Given the description of an element on the screen output the (x, y) to click on. 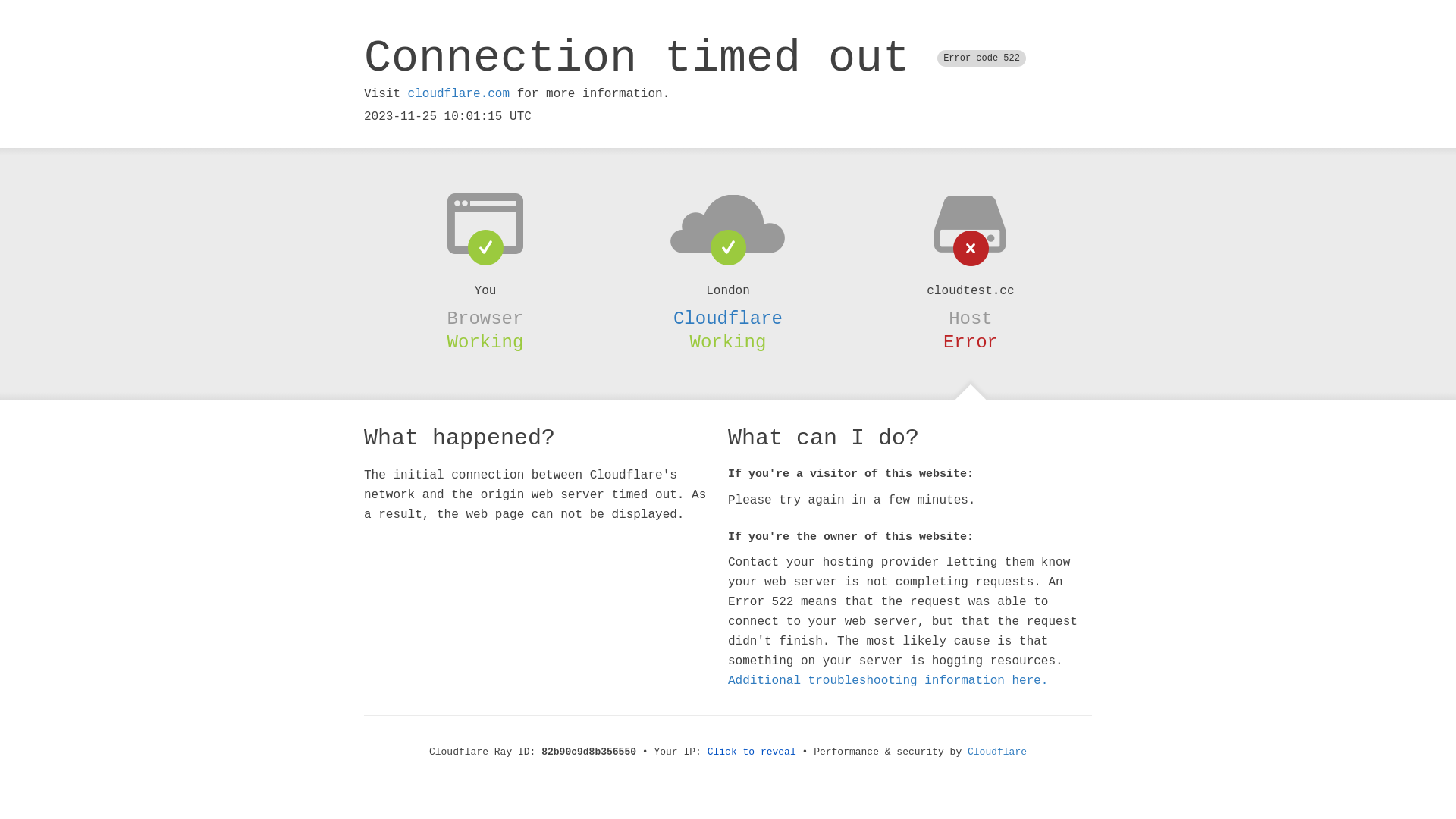
Cloudflare Element type: text (996, 751)
cloudflare.com Element type: text (458, 93)
Additional troubleshooting information here. Element type: text (888, 680)
Cloudflare Element type: text (727, 318)
Click to reveal Element type: text (751, 751)
